Given the description of an element on the screen output the (x, y) to click on. 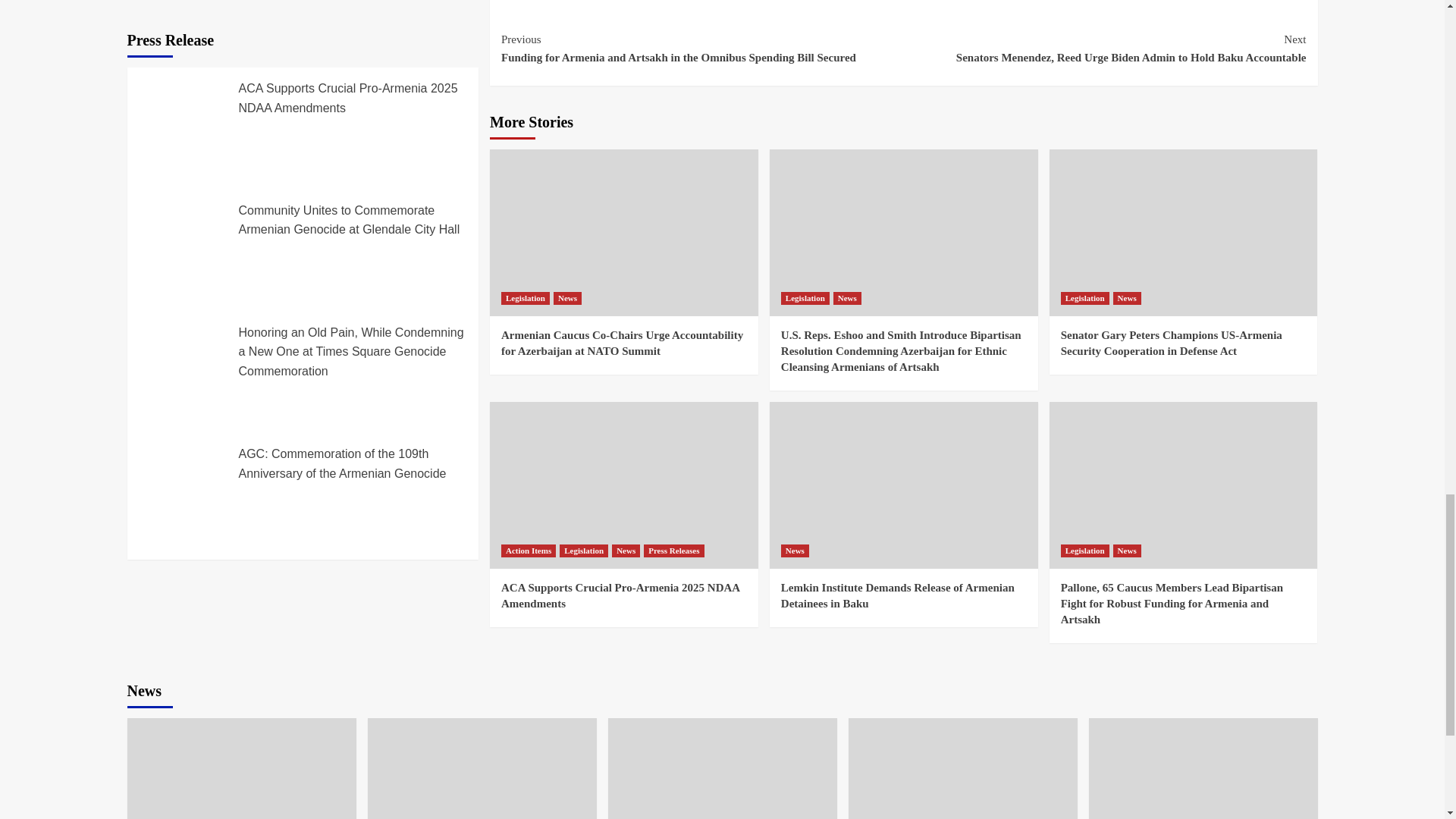
Legislation (525, 297)
Legislation (583, 550)
News (566, 297)
Legislation (1085, 297)
ACA Supports Crucial Pro-Armenia 2025 NDAA Amendments (619, 595)
Action Items (528, 550)
News (1127, 297)
News (625, 550)
News (846, 297)
Legislation (804, 297)
Press Releases (673, 550)
